Given the description of an element on the screen output the (x, y) to click on. 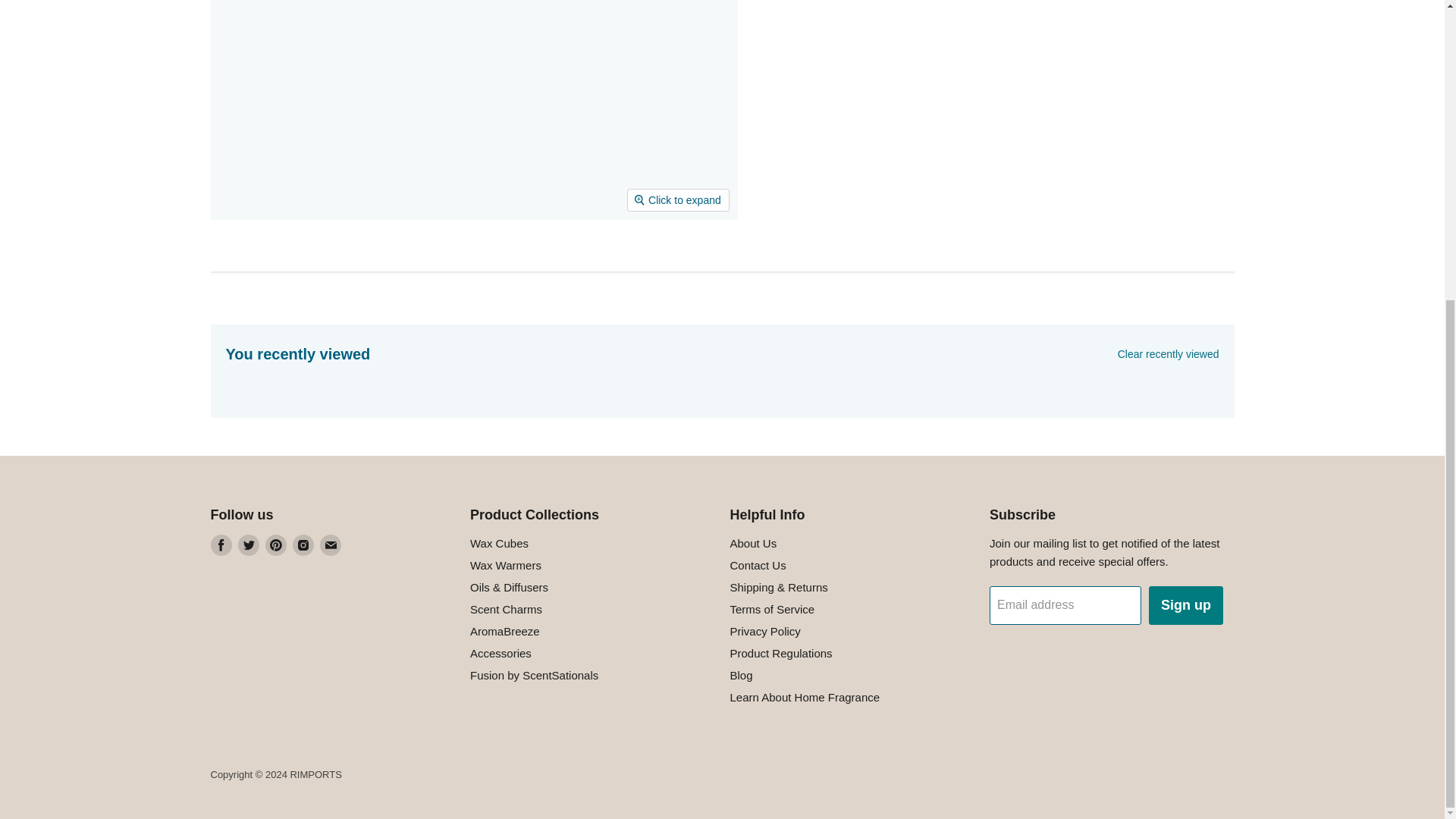
Email (330, 545)
Pinterest (275, 545)
Twitter (248, 545)
Instagram (303, 545)
Facebook (221, 545)
